Given the description of an element on the screen output the (x, y) to click on. 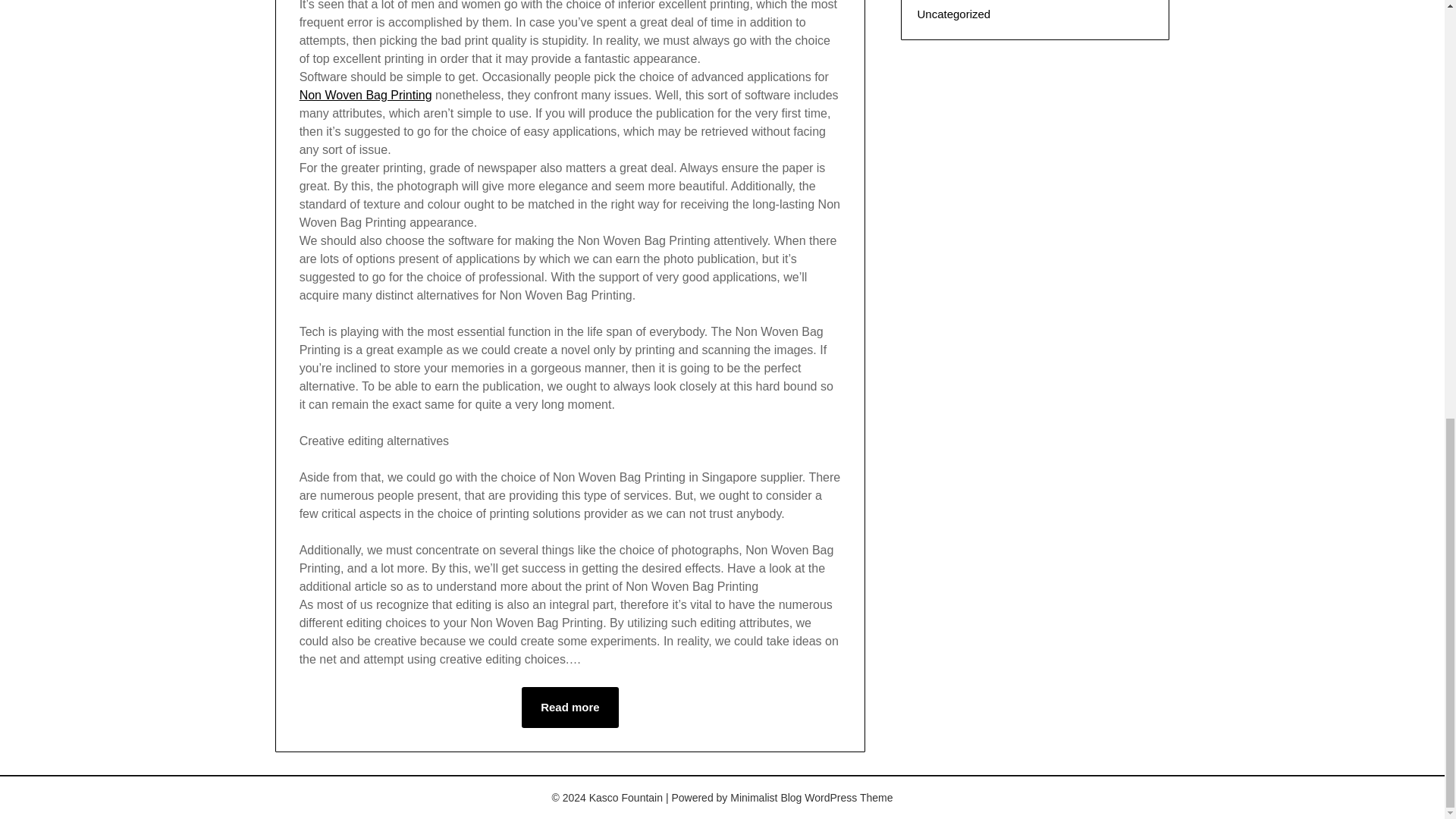
Non Woven Bag Printing (365, 94)
Minimalist Blog (766, 797)
Uncategorized (953, 13)
Read more (569, 707)
